Given the description of an element on the screen output the (x, y) to click on. 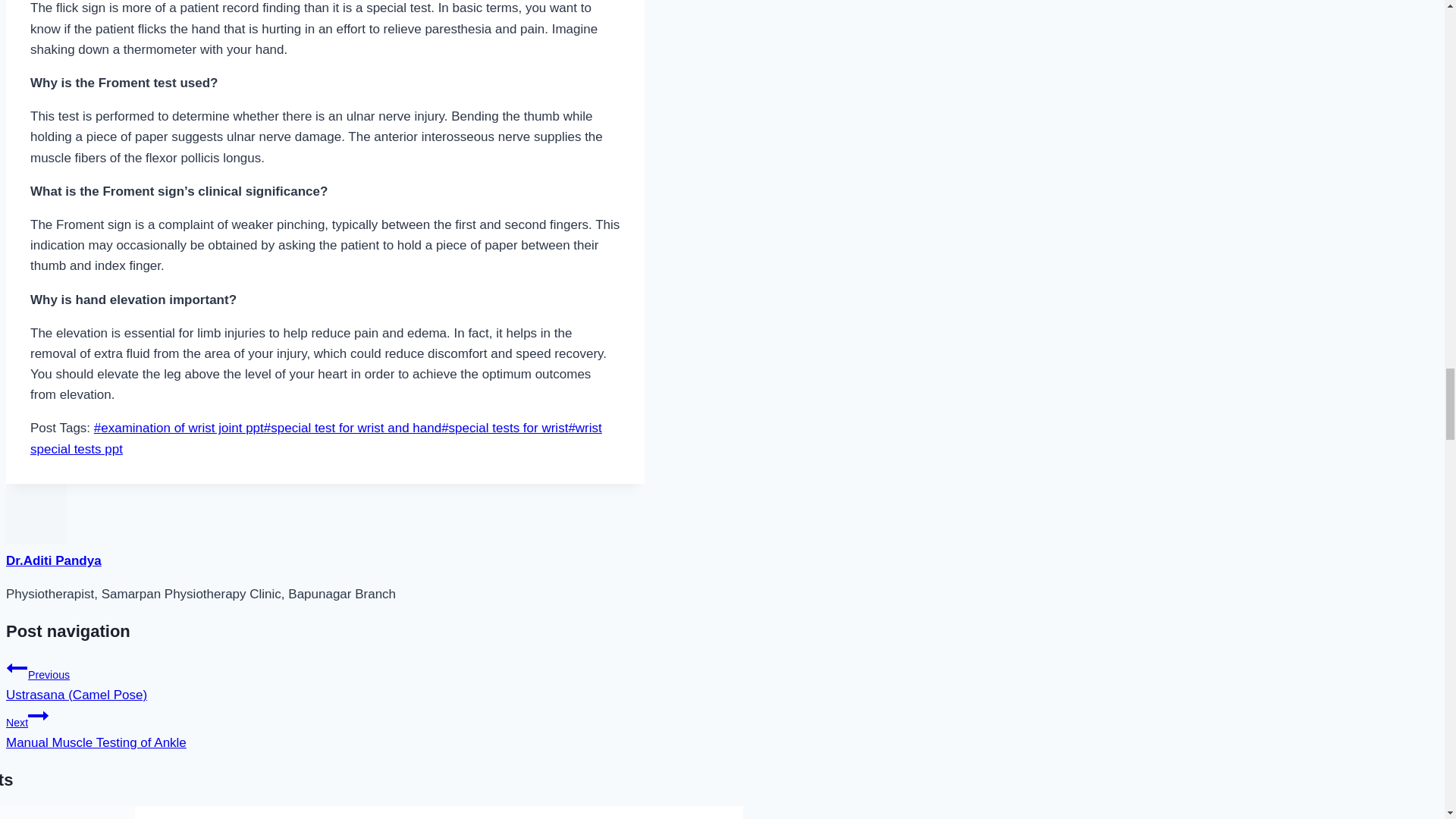
examination of wrist joint ppt (178, 427)
special tests for wrist (504, 427)
Previous (16, 667)
Continue (37, 715)
wrist special tests ppt (316, 437)
special test for wrist and hand (352, 427)
Posts by Dr.Aditi Pandya (53, 560)
